Given the description of an element on the screen output the (x, y) to click on. 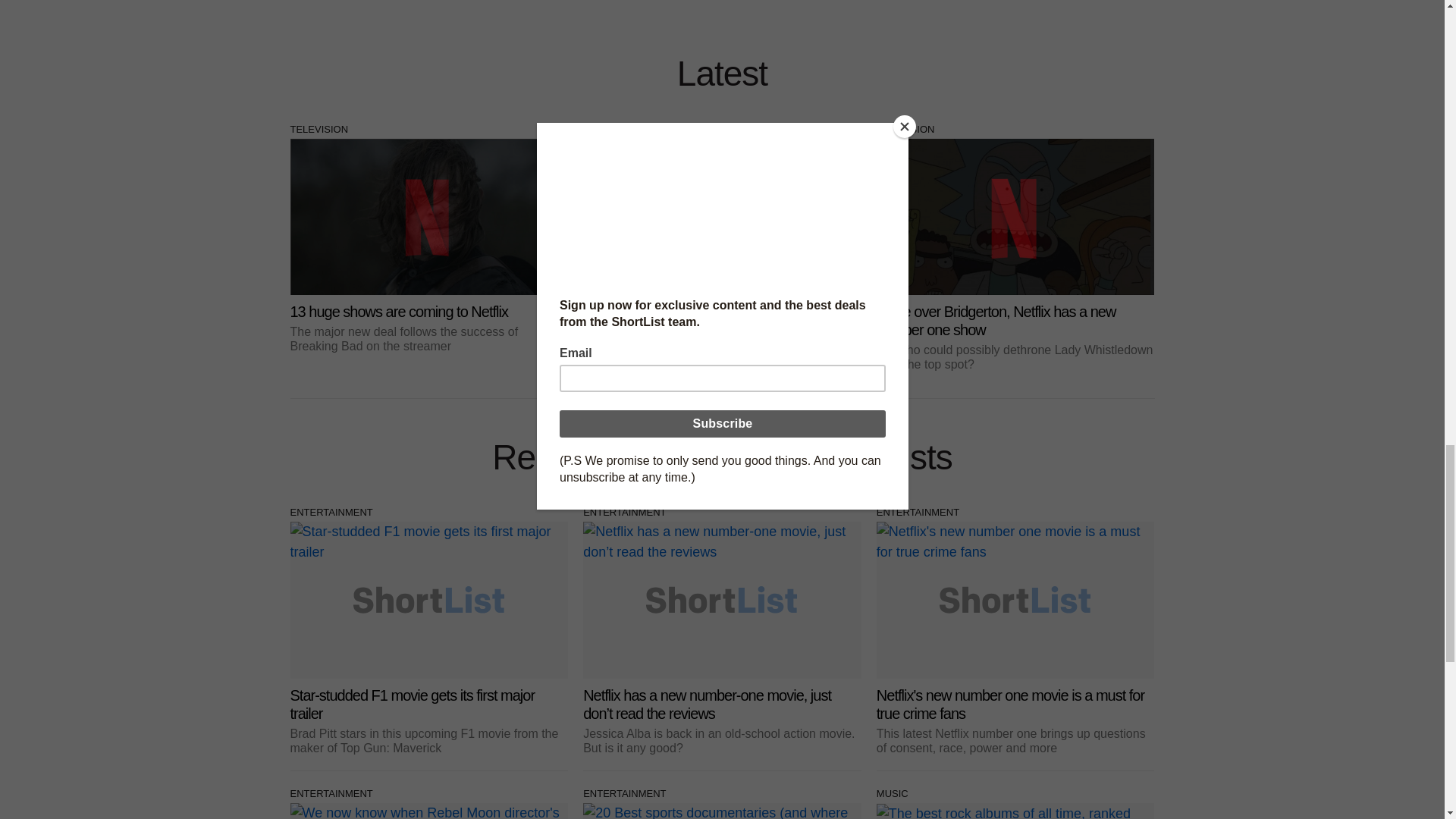
13 huge shows are coming to Netflix (428, 245)
